Given the description of an element on the screen output the (x, y) to click on. 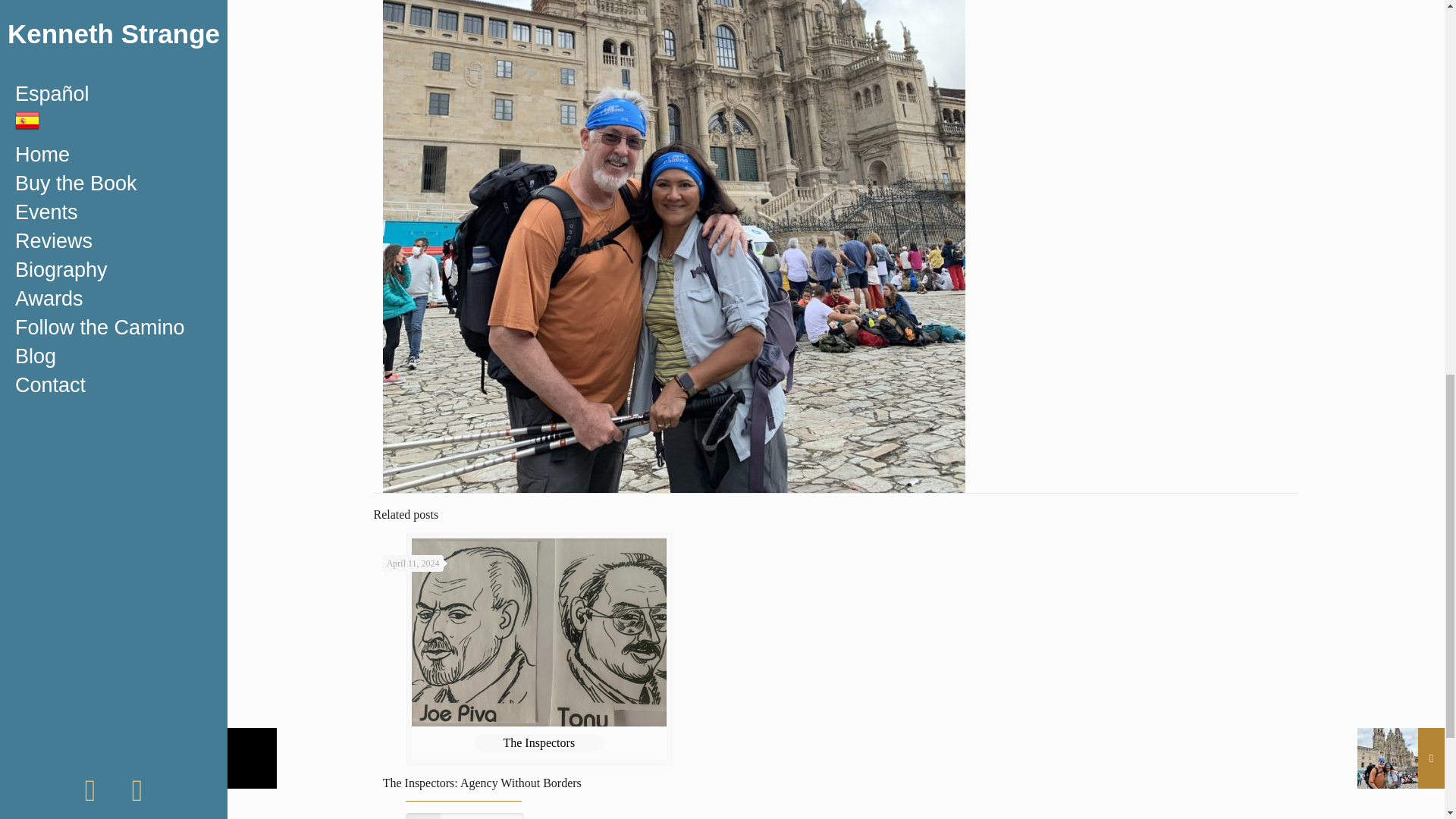
Read more (465, 816)
The Inspectors: Agency Without Borders (481, 782)
